Given the description of an element on the screen output the (x, y) to click on. 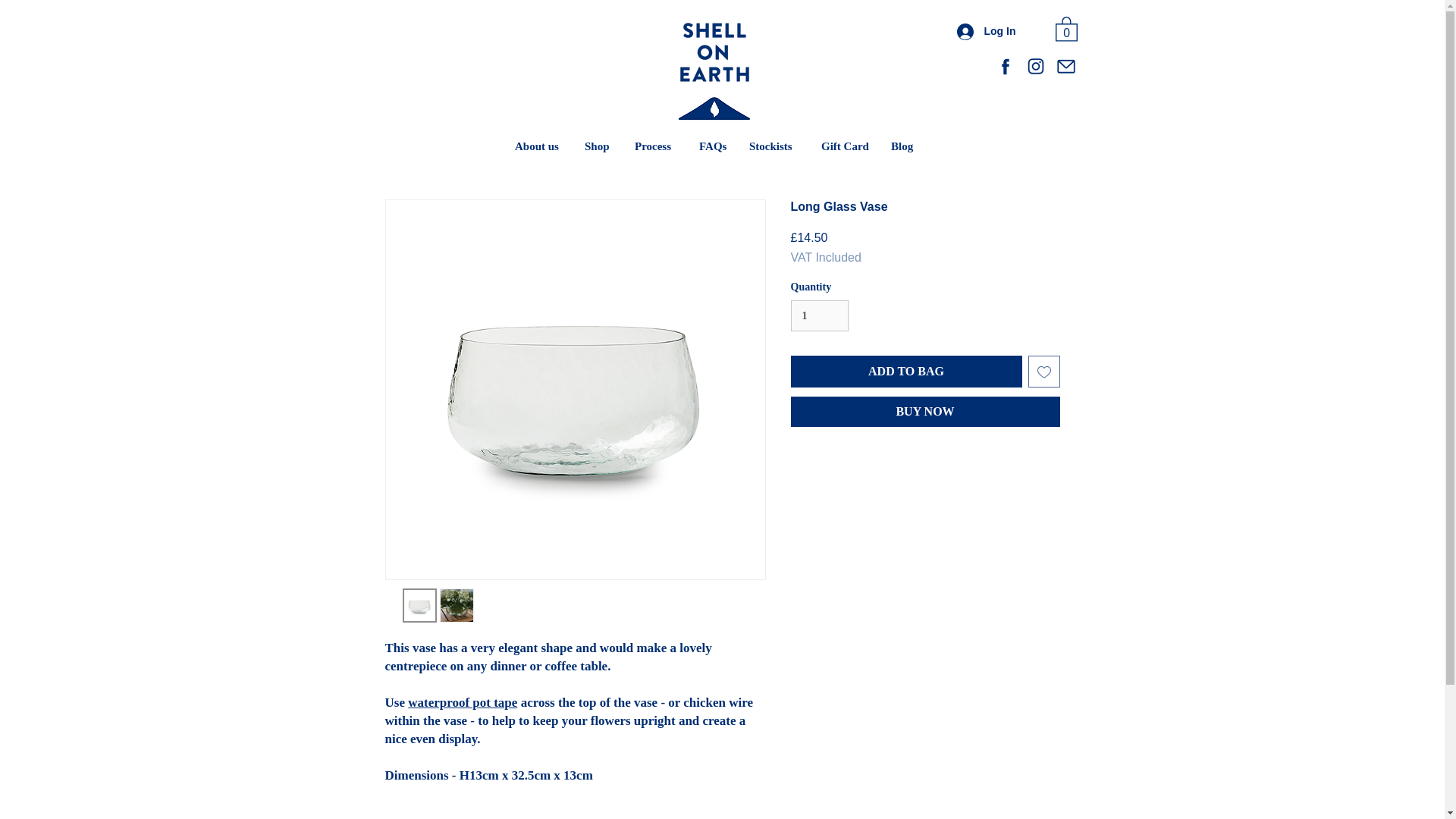
Stockists (773, 146)
ADD TO BAG (906, 371)
FAQs (712, 146)
Gift Card (844, 146)
Shop (598, 146)
1 (818, 315)
waterproof pot tape (461, 702)
BUY NOW (924, 411)
Blog (901, 146)
About us (538, 146)
Process (655, 146)
Log In (986, 31)
